Given the description of an element on the screen output the (x, y) to click on. 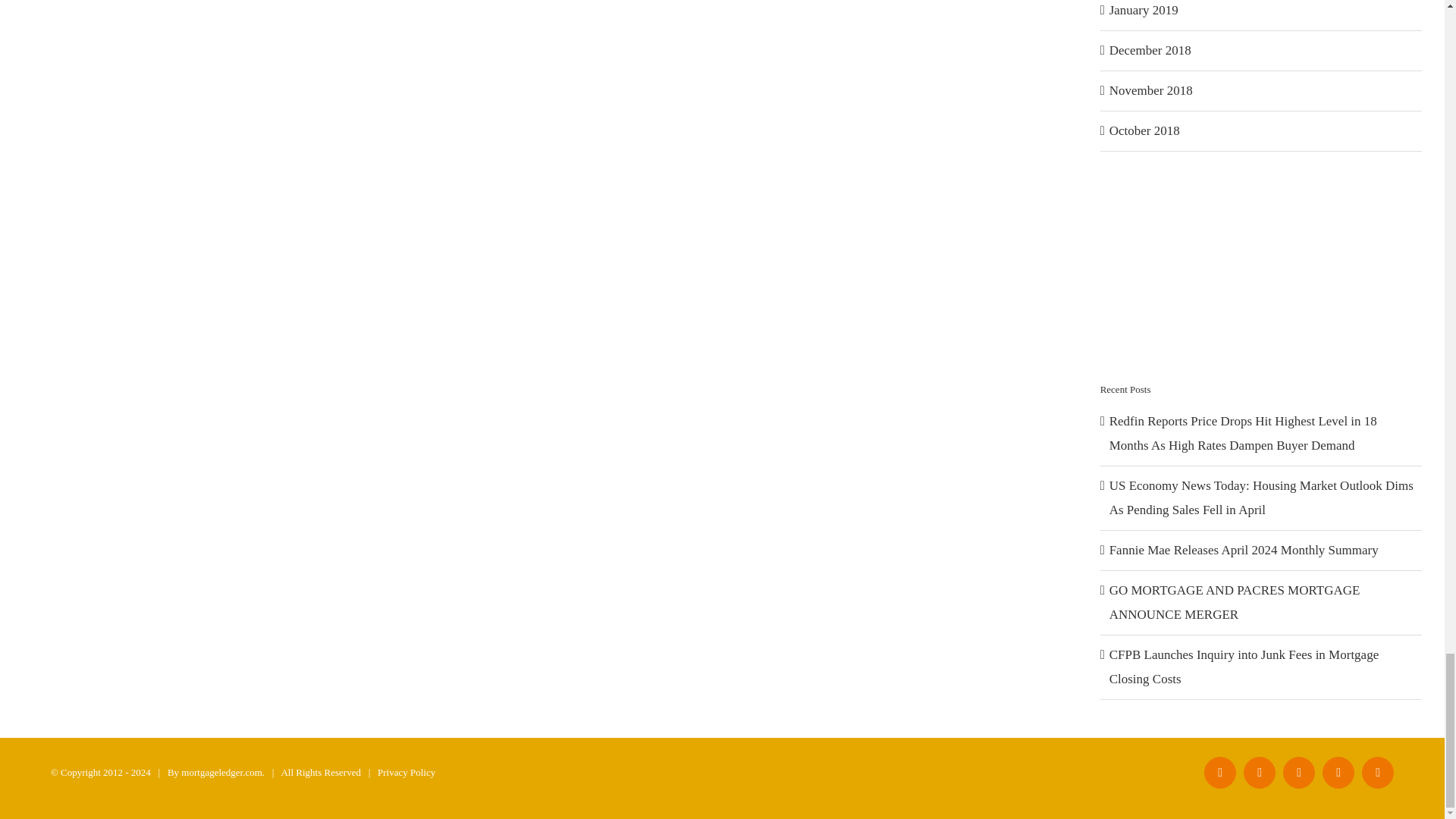
Facebook (1220, 772)
YouTube (1298, 772)
WhatsApp (1377, 772)
Twitter (1259, 772)
LinkedIn (1338, 772)
